Given the description of an element on the screen output the (x, y) to click on. 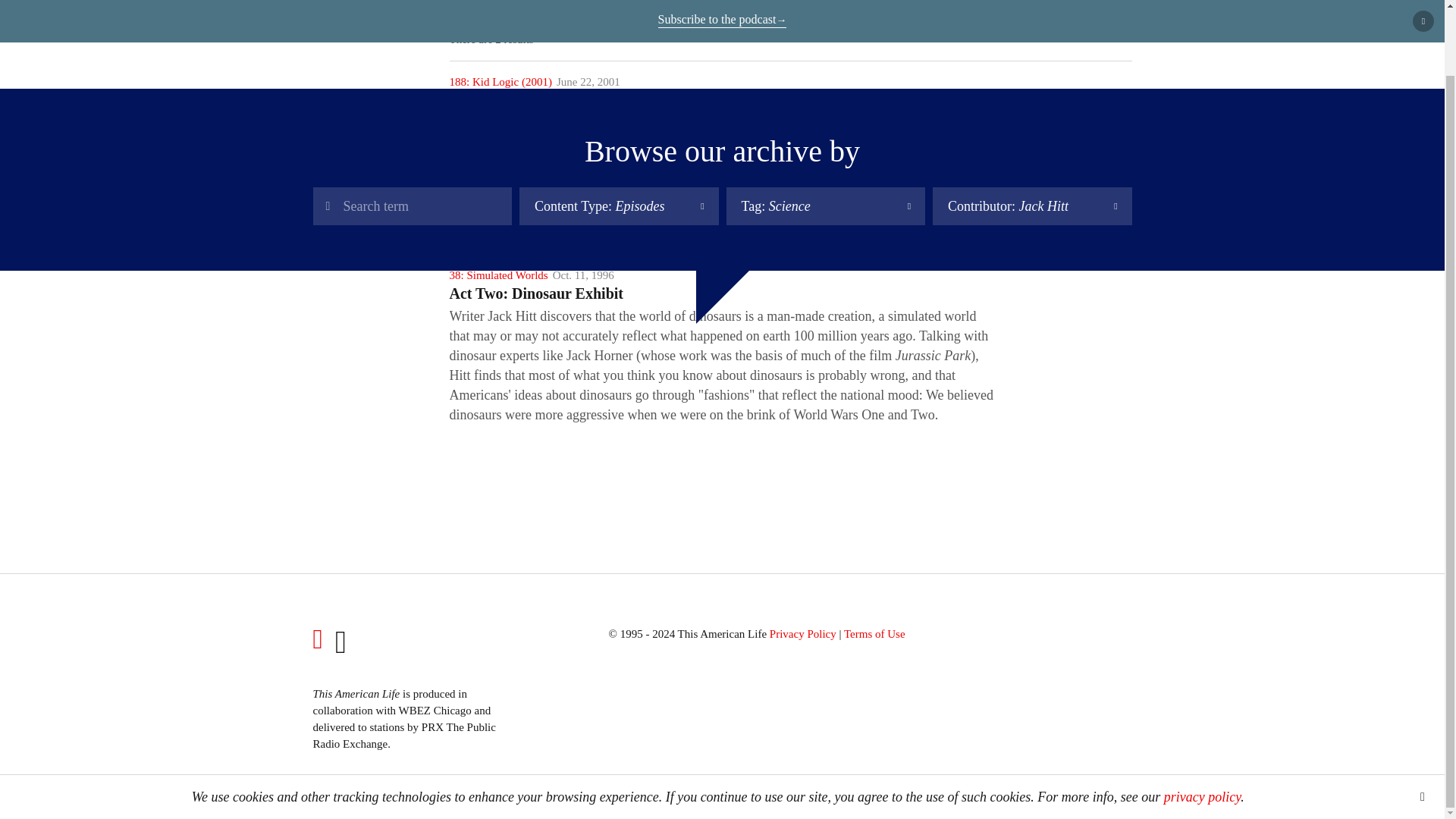
privacy policy (1201, 724)
